Given the description of an element on the screen output the (x, y) to click on. 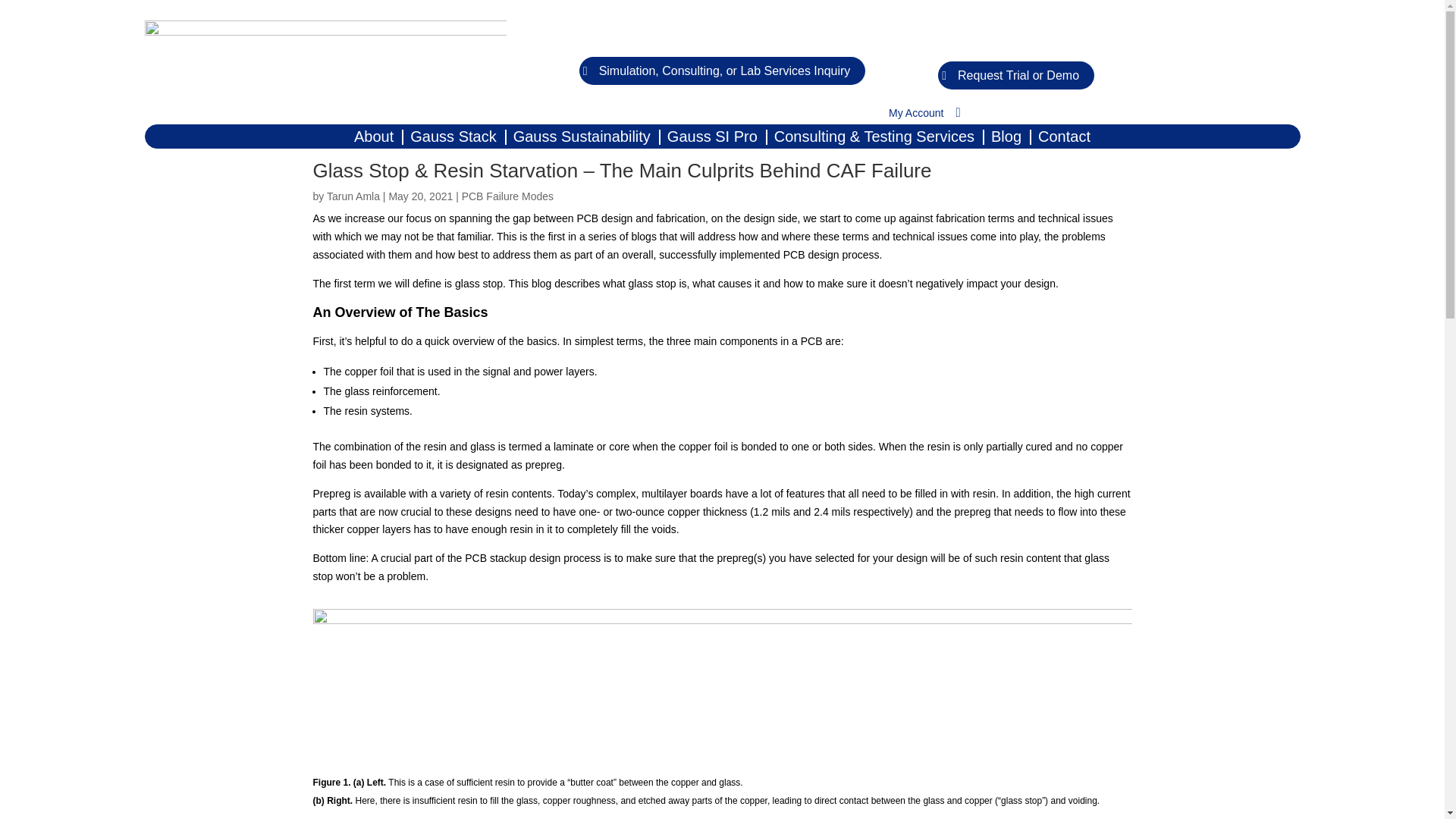
Avishtech (325, 60)
Contact (1064, 139)
. (967, 50)
My Account (917, 115)
About (373, 139)
Simulation, Consulting, or Lab Services Inquiry (722, 70)
Blog (1006, 139)
Gauss Stack (453, 139)
Gauss SI Pro (711, 139)
Gauss Sustainability (581, 139)
